Given the description of an element on the screen output the (x, y) to click on. 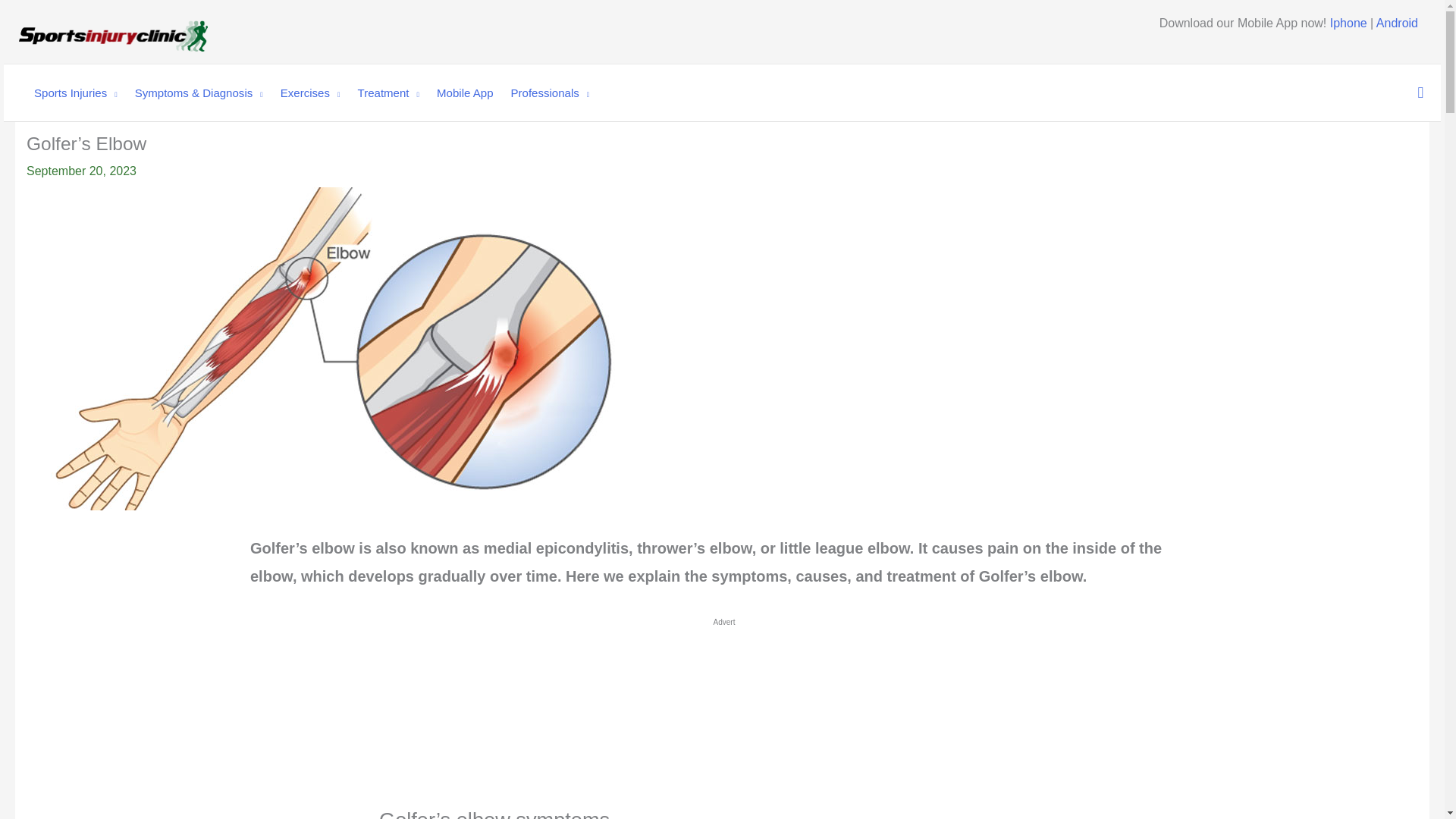
Iphone (1348, 22)
Android (1396, 22)
Sports Injuries (68, 92)
